Given the description of an element on the screen output the (x, y) to click on. 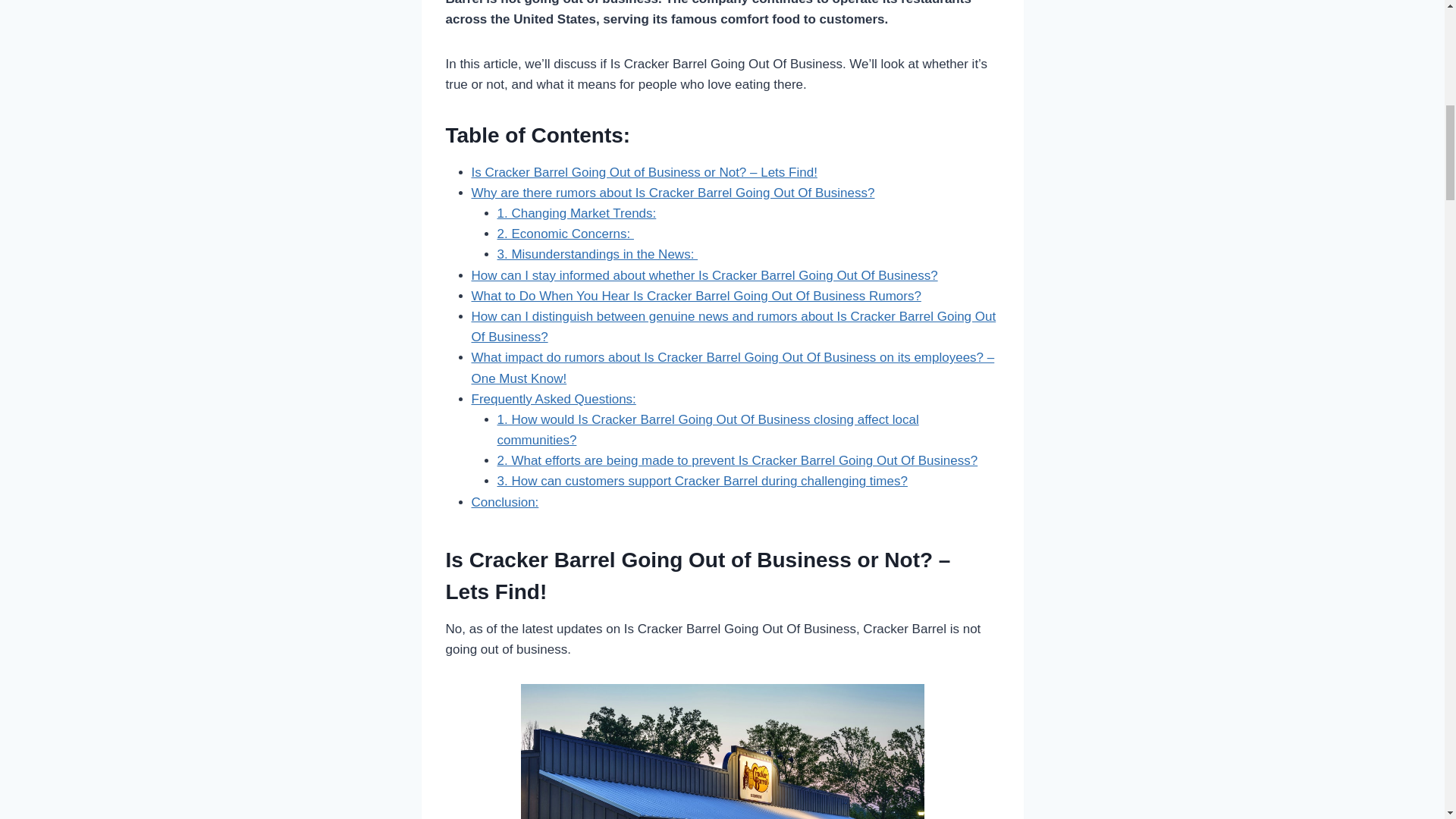
Frequently Asked Questions: (553, 399)
1. Changing Market Trends: (576, 213)
2. Economic Concerns:  (565, 233)
3. Misunderstandings in the News:  (597, 254)
